Given the description of an element on the screen output the (x, y) to click on. 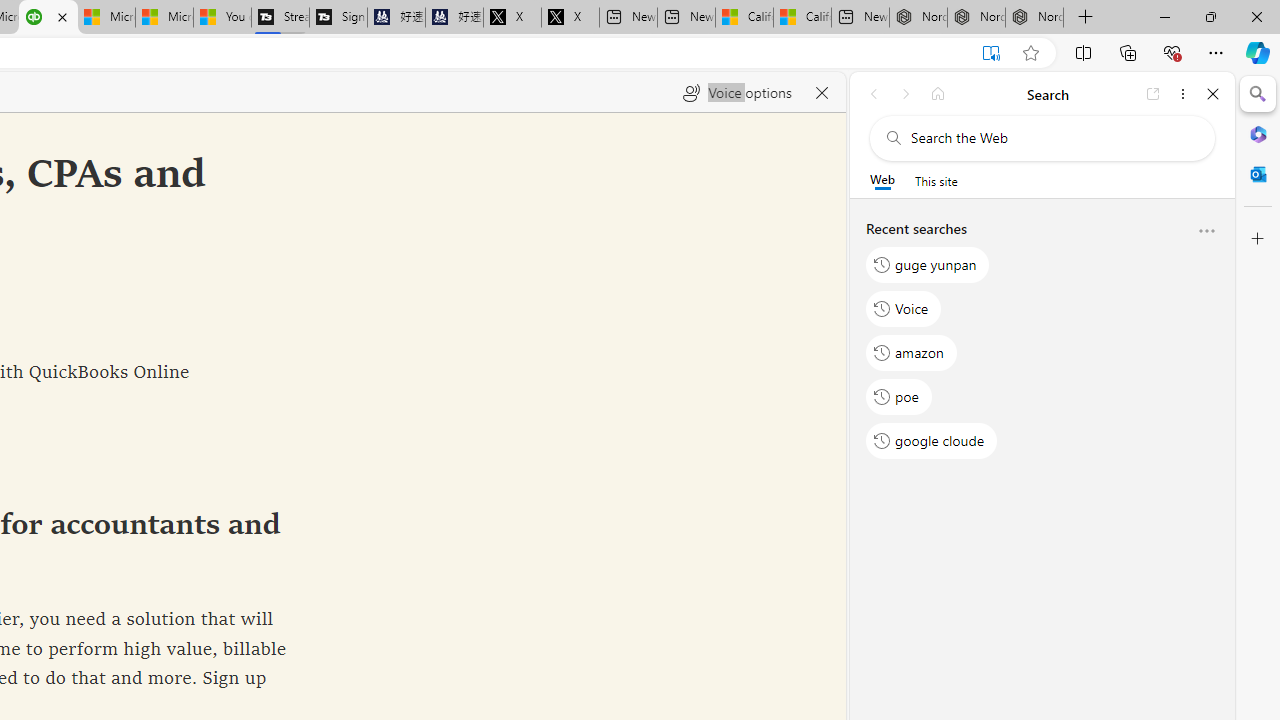
This site scope (936, 180)
guge yunpan (927, 264)
Customize (1258, 239)
Forward (906, 93)
poe (898, 396)
Nordace - Best Sellers (918, 17)
Nordace - Siena Pro 15 Essential Set (1034, 17)
